Given the description of an element on the screen output the (x, y) to click on. 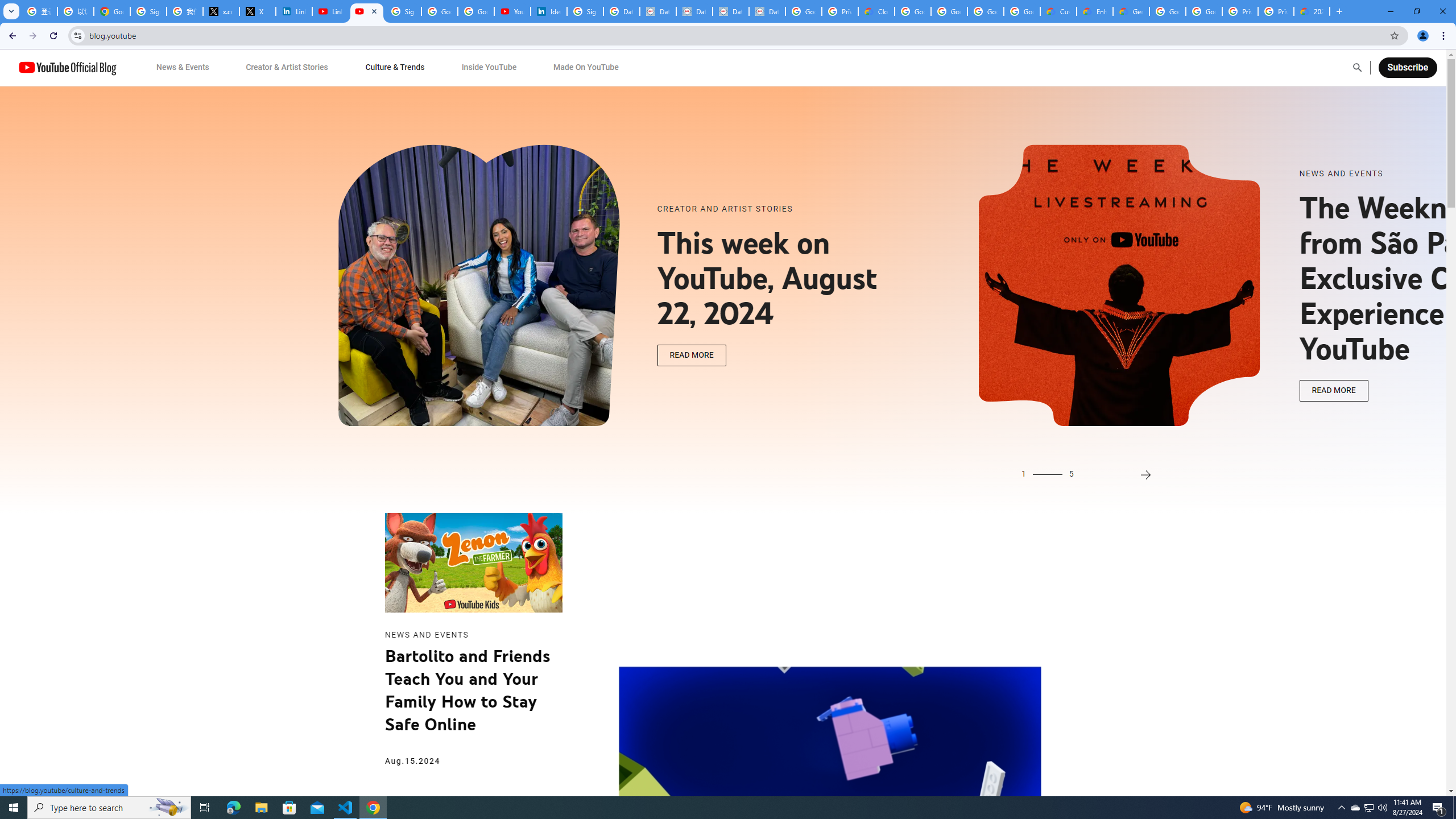
Google Cloud Platform (1203, 11)
Data Privacy Framework (730, 11)
Data Privacy Framework (657, 11)
Open Search (1357, 67)
Google Workspace - Specific Terms (1021, 11)
